Given the description of an element on the screen output the (x, y) to click on. 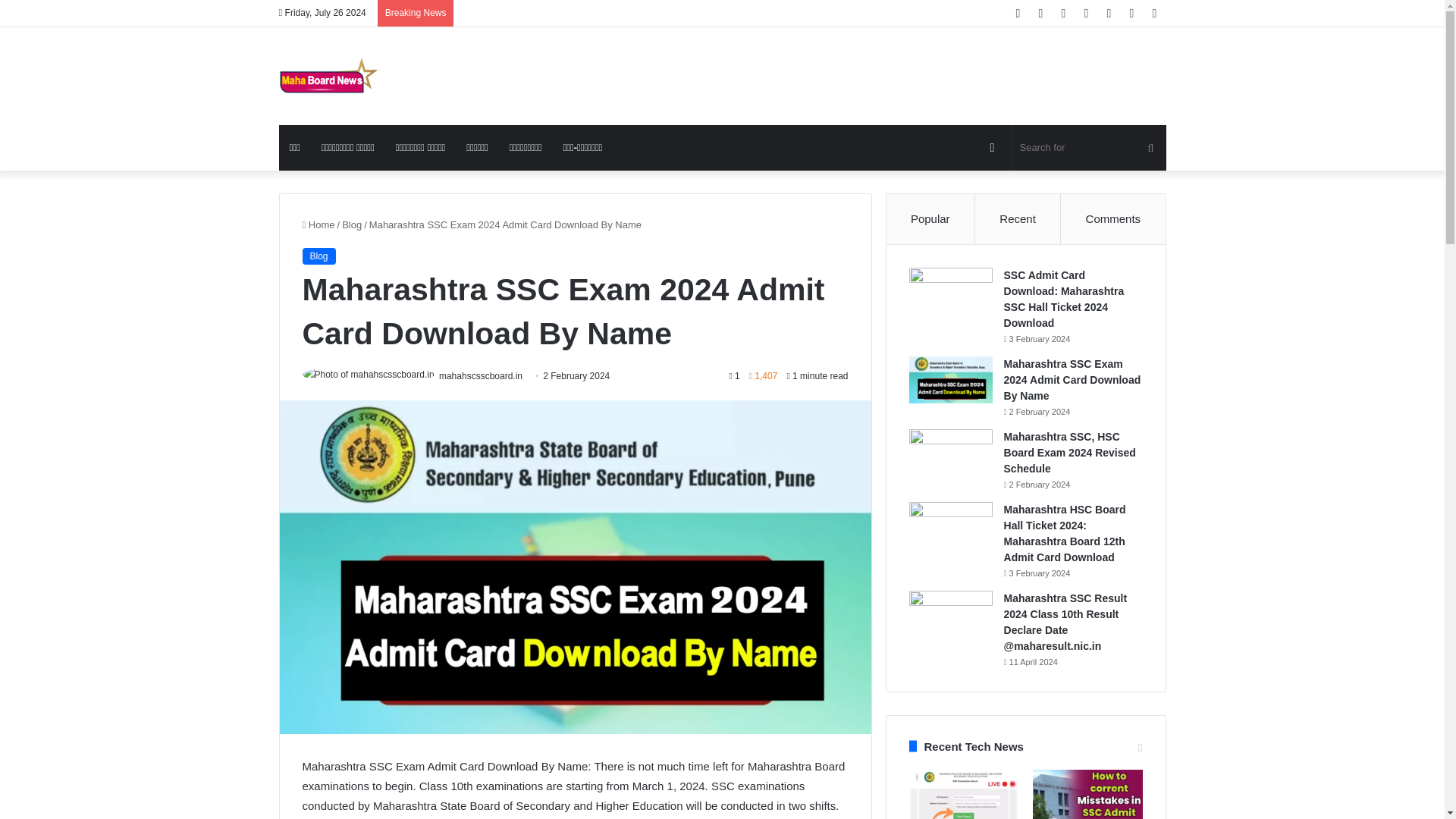
Search for (1088, 147)
Blog (351, 224)
Blog (317, 256)
Home (317, 224)
Maha Board News (328, 76)
